Given the description of an element on the screen output the (x, y) to click on. 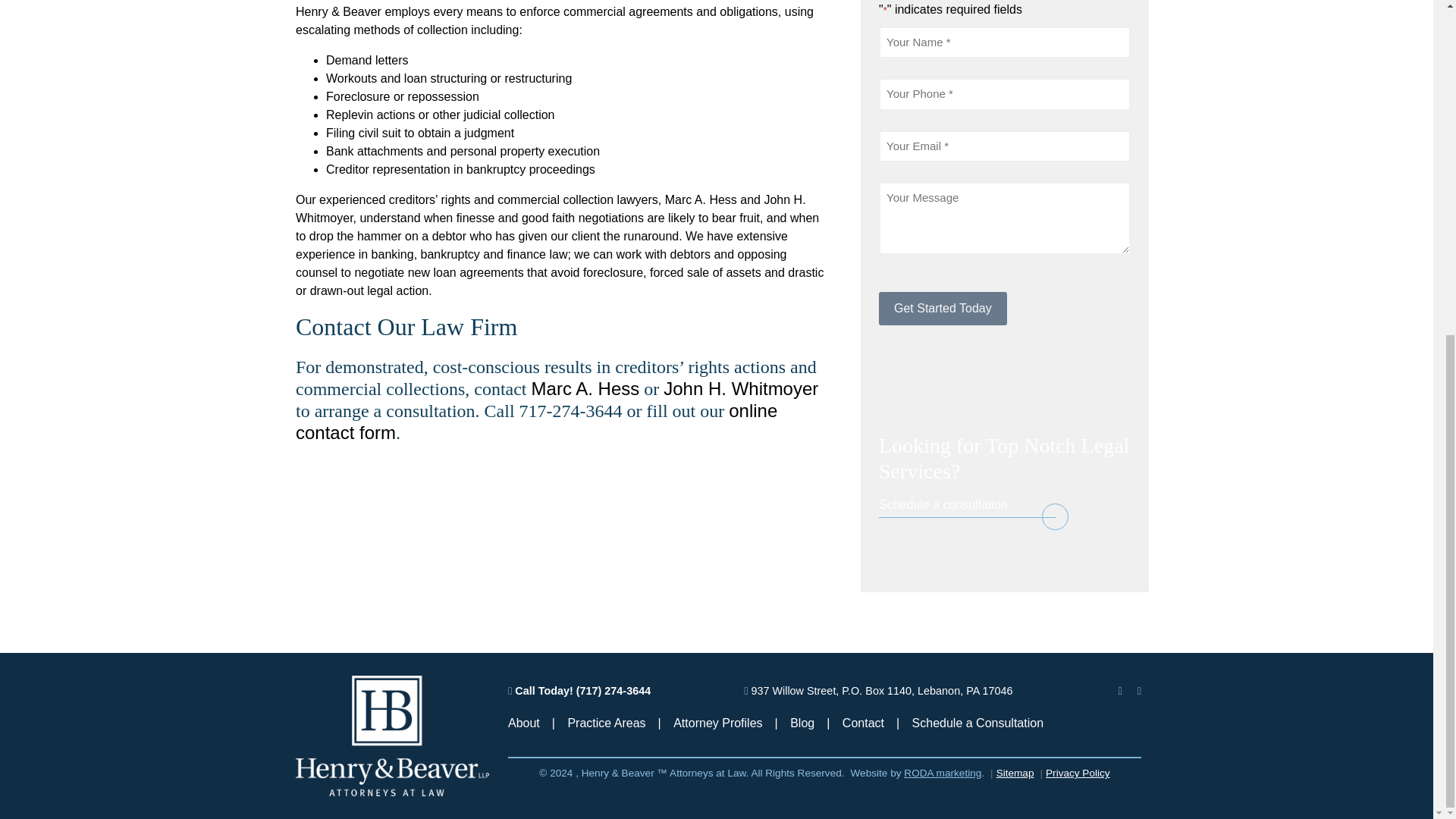
Practice Areas (606, 722)
online contact form (536, 421)
Contact (863, 722)
Marc A. Hess (585, 388)
Marc A. Hess (700, 199)
About (524, 722)
Schedule a Consultation (977, 722)
John H. Whitmoyer (740, 388)
Get Started Today (943, 308)
